Given the description of an element on the screen output the (x, y) to click on. 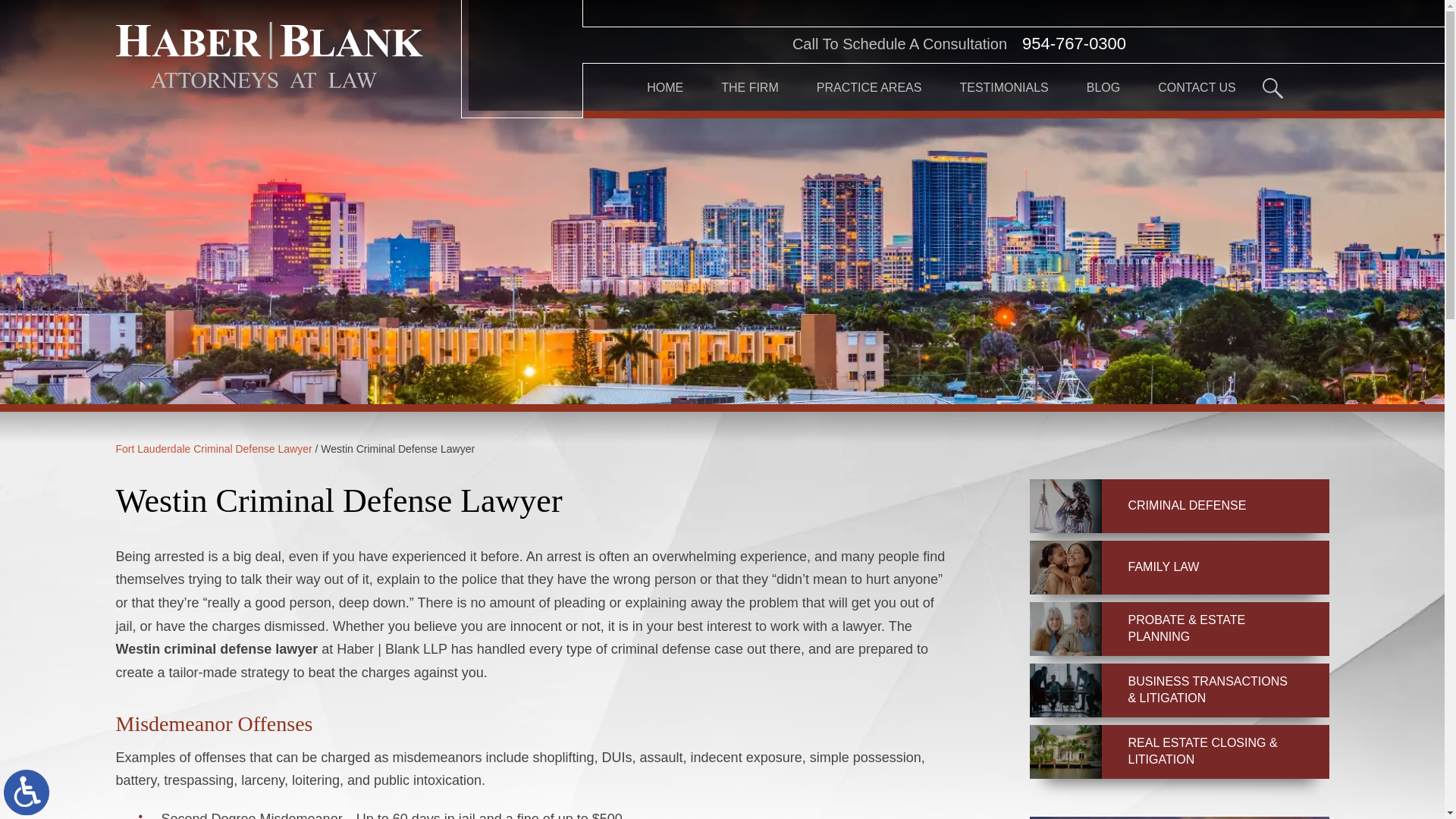
PRACTICE AREAS (868, 87)
THE FIRM (749, 87)
Switch to ADA Accessible Theme (26, 791)
BLOG (1102, 87)
HOME (664, 87)
954-767-0300 (1073, 44)
TESTIMONIALS (1003, 87)
Fort Lauderdale Criminal Defense Lawyer (213, 449)
CONTACT US (1196, 87)
